Given the description of an element on the screen output the (x, y) to click on. 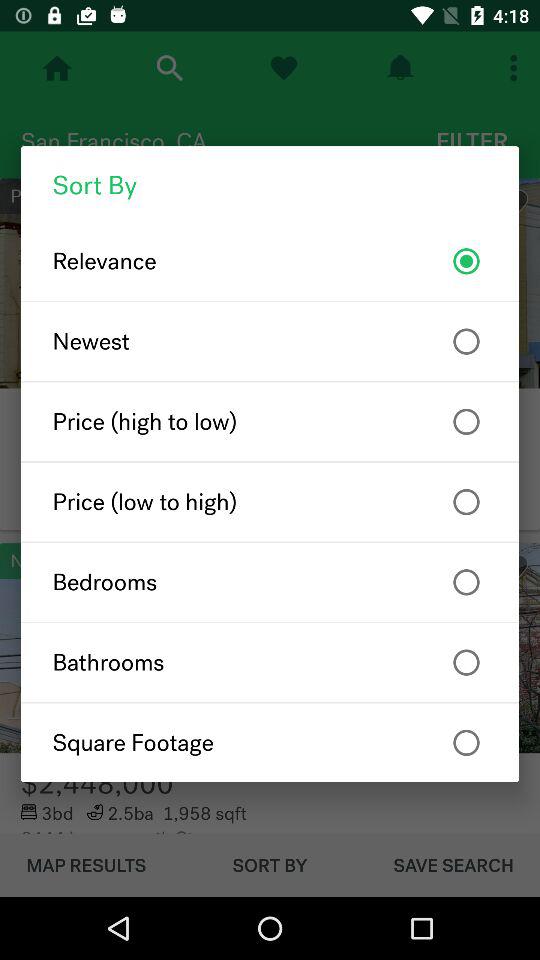
tap icon above newest item (270, 261)
